Given the description of an element on the screen output the (x, y) to click on. 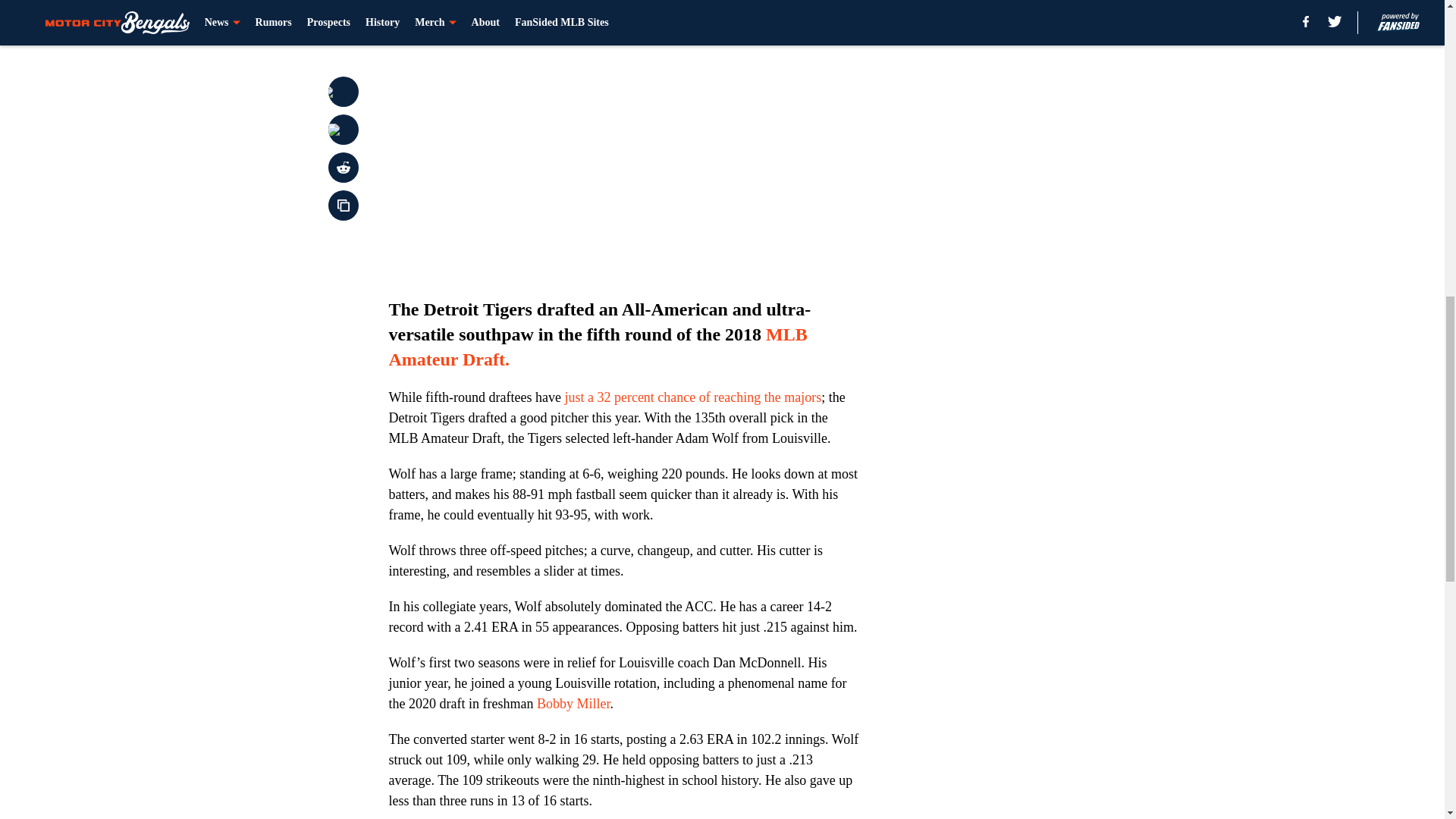
MLB Amateur Draft. (597, 346)
Bobby Miller (573, 703)
just a 32 percent chance of reaching the majors (692, 396)
